Given the description of an element on the screen output the (x, y) to click on. 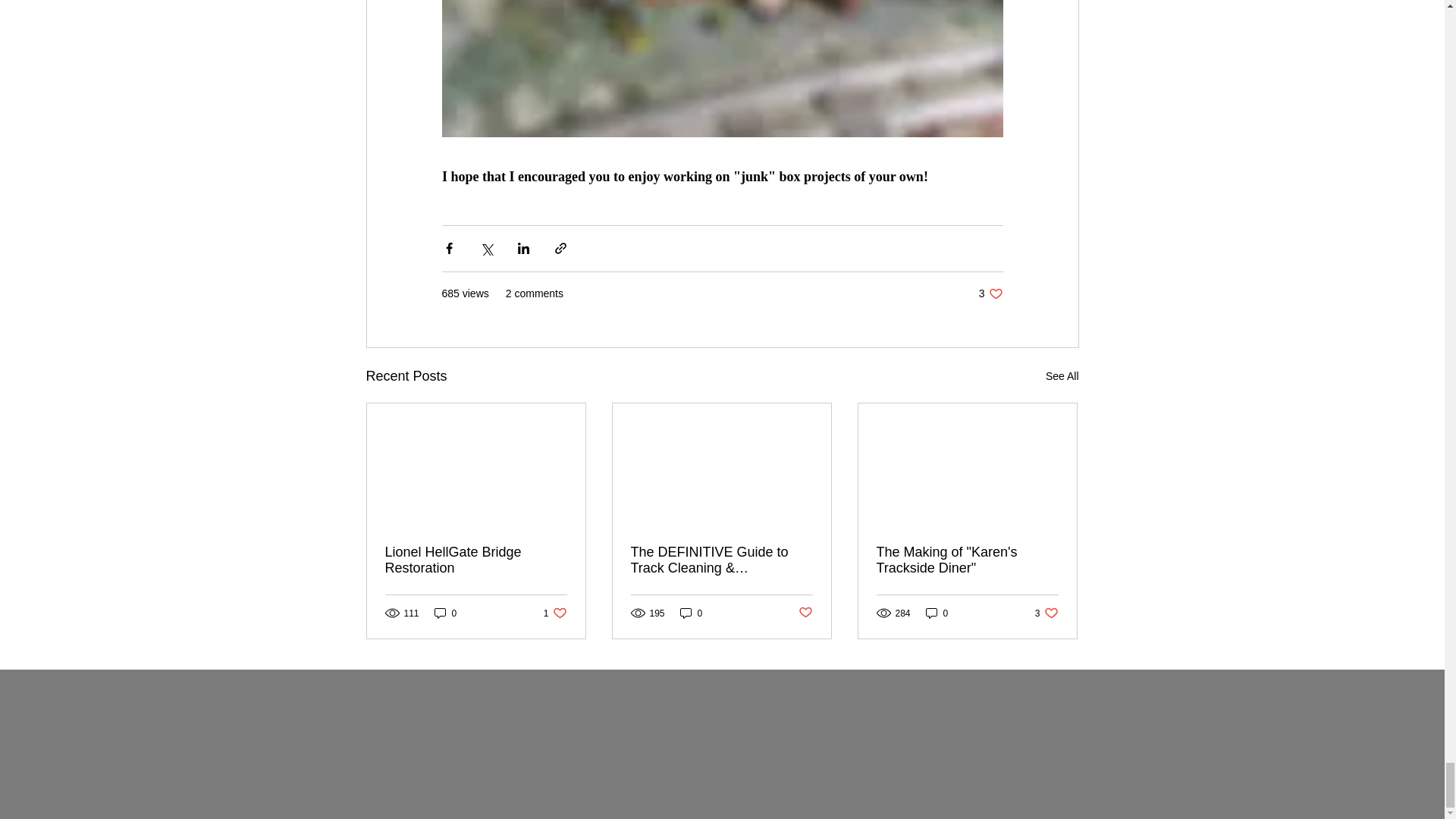
Lionel HellGate Bridge Restoration (476, 560)
The Making of "Karen's Trackside Diner" (967, 560)
0 (990, 293)
Post not marked as liked (555, 612)
See All (691, 612)
0 (804, 612)
0 (1061, 376)
